Given the description of an element on the screen output the (x, y) to click on. 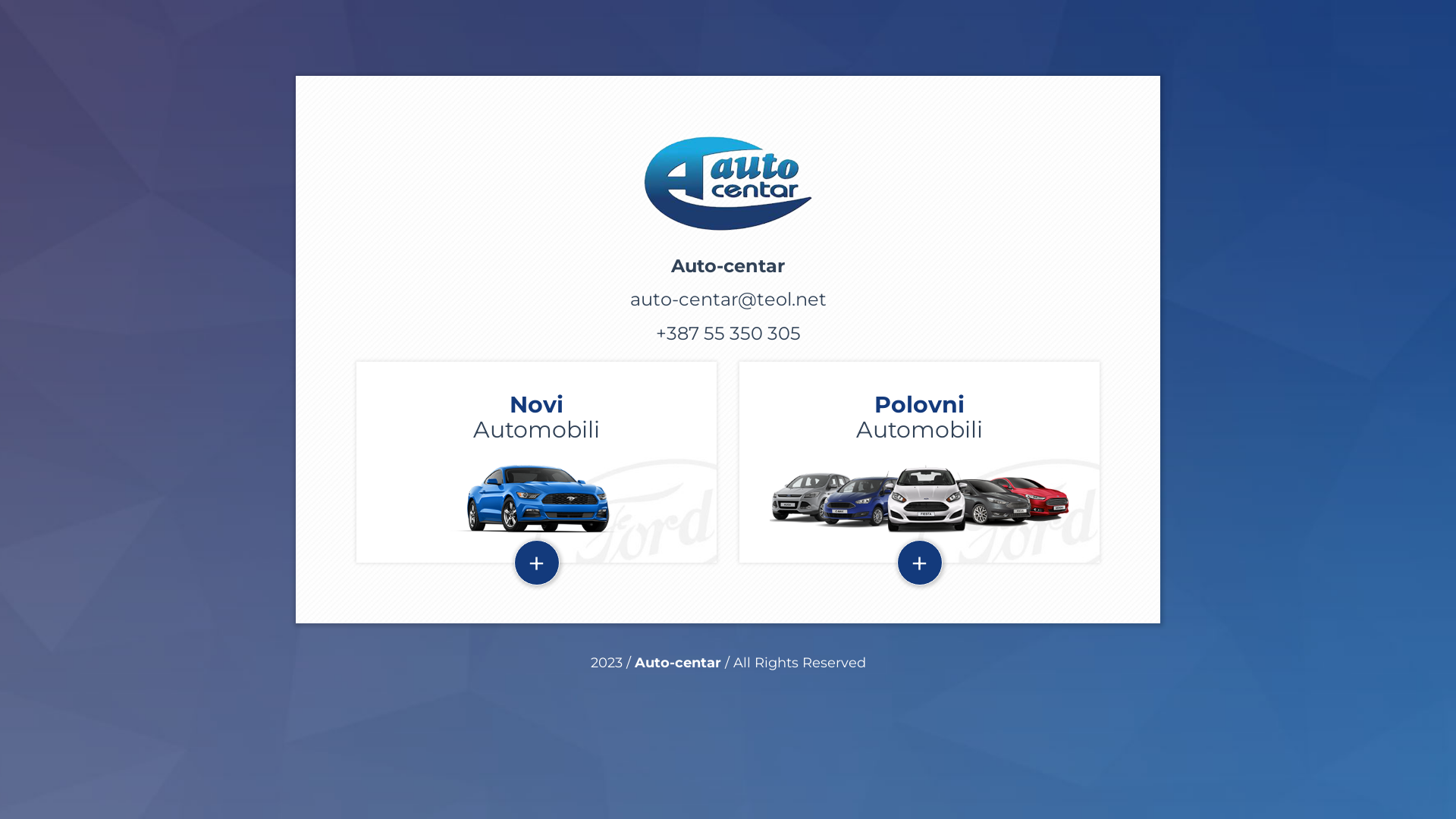
Novi
Automobili
+ Element type: text (536, 461)
auto-centar@teol.net Element type: text (727, 299)
Polovni
Automobili
+ Element type: text (919, 461)
